Given the description of an element on the screen output the (x, y) to click on. 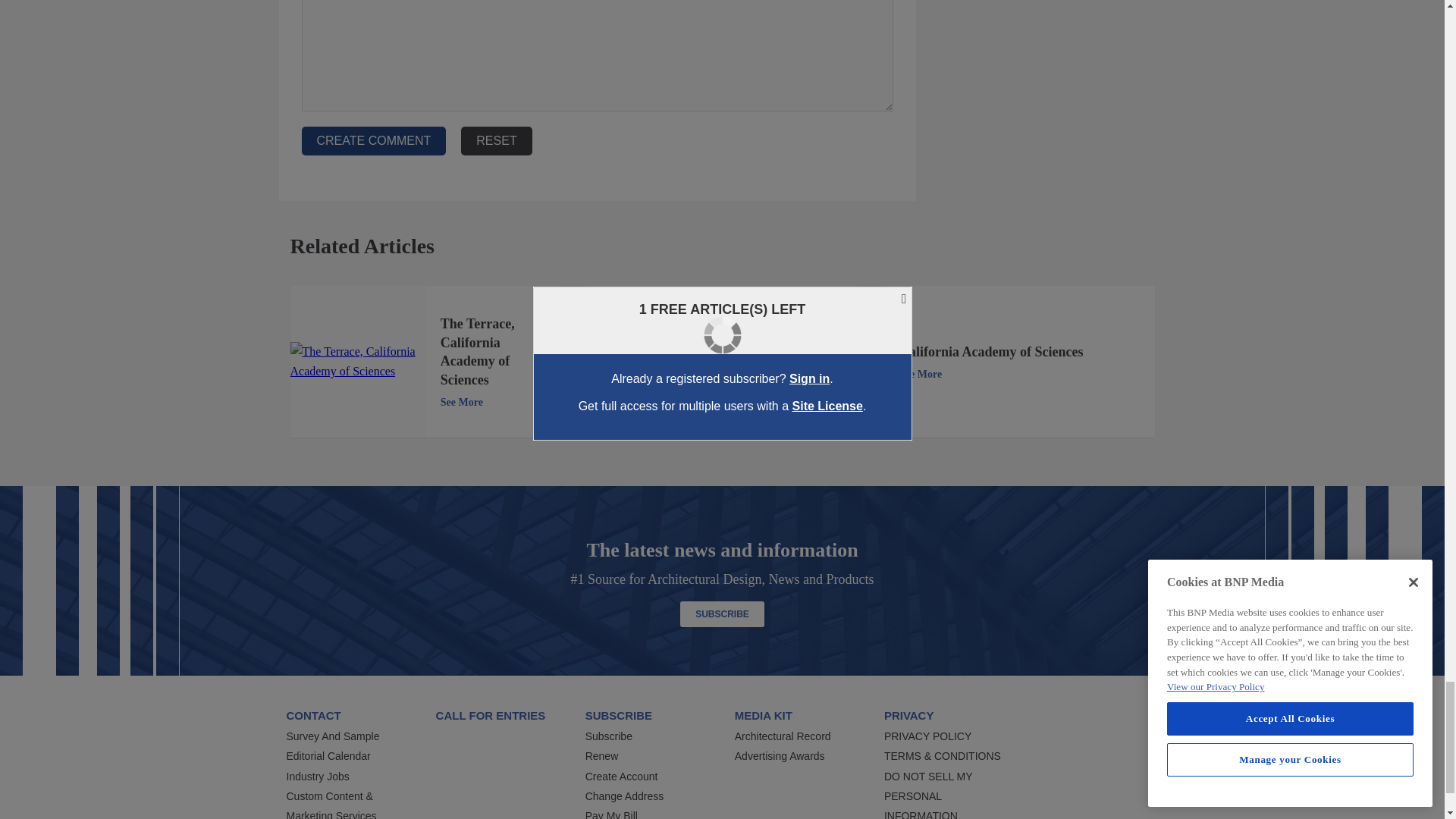
Reset (496, 140)
The Terrace, California Academy of Sciences (357, 362)
Create Comment (373, 140)
